Given the description of an element on the screen output the (x, y) to click on. 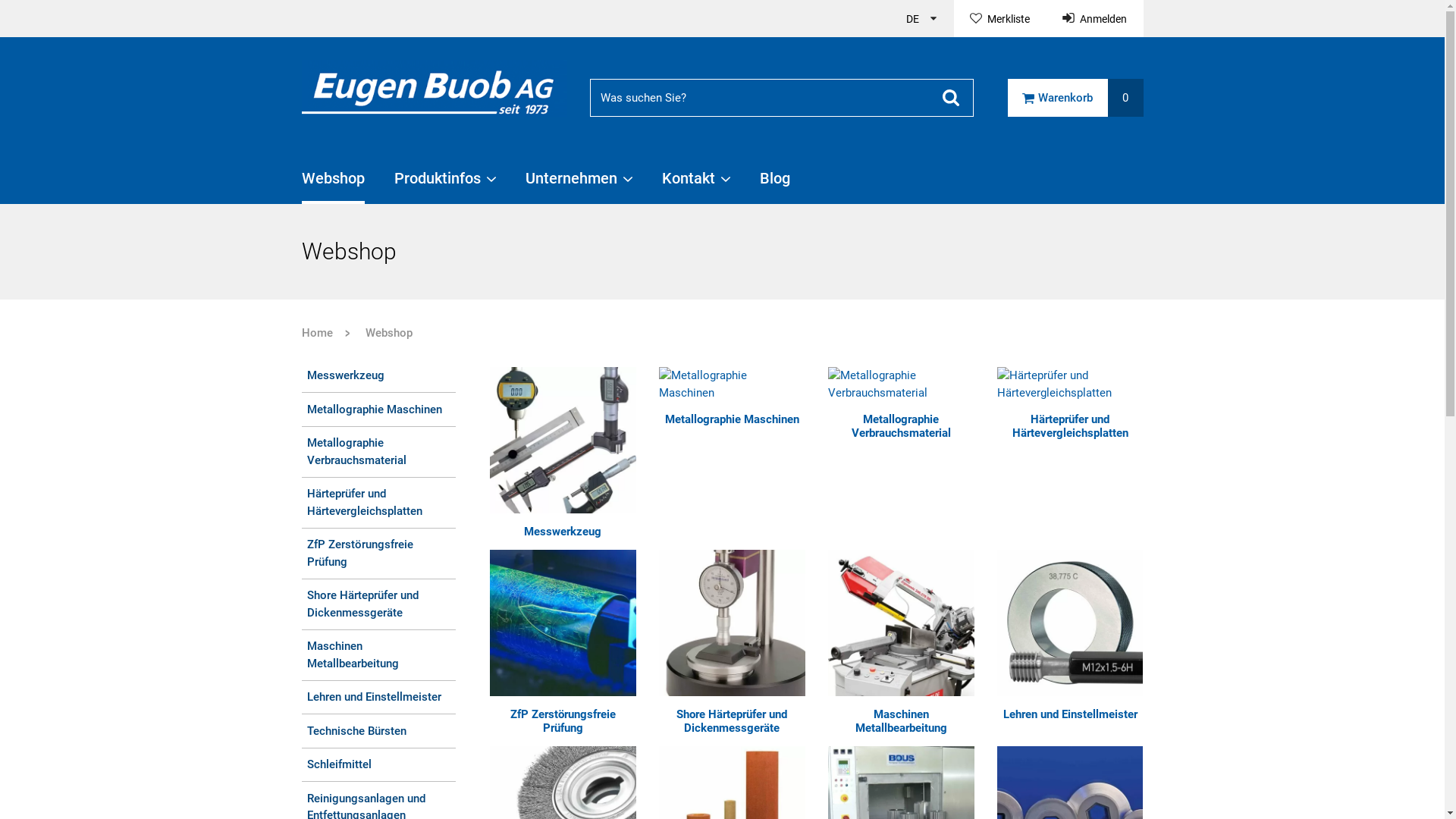
0 Element type: text (1124, 97)
Metallographie Maschinen Element type: text (731, 419)
Schleifmittel Element type: text (378, 764)
Anmelden Element type: text (1094, 18)
Lehren und Einstellmeister Element type: text (378, 697)
Warenkorb Element type: text (1057, 97)
Webshop Element type: text (373, 332)
Metallographie Maschinen Element type: text (378, 409)
Messwerkzeug Element type: text (562, 531)
Merkliste Element type: text (999, 18)
Produktinfos Element type: text (444, 184)
Home Element type: text (316, 332)
Lehren und Einstellmeister Element type: hover (1070, 622)
Blog Element type: text (774, 184)
Unternehmen Element type: text (577, 184)
Metallographie Maschinen Element type: hover (731, 384)
Webshop Element type: text (332, 184)
Messwerkzeug Element type: hover (562, 440)
Maschinen Metallbearbeitung Element type: text (901, 720)
Maschinen Metallbearbeitung Element type: hover (901, 622)
Maschinen Metallbearbeitung Element type: text (378, 655)
Kontakt Element type: text (695, 184)
Metallographie Verbrauchsmaterial Element type: text (901, 425)
Metallographie Verbrauchsmaterial Element type: hover (901, 384)
Lehren und Einstellmeister Element type: text (1070, 714)
Messwerkzeug Element type: text (378, 379)
Metallographie Verbrauchsmaterial Element type: text (378, 451)
